Given the description of an element on the screen output the (x, y) to click on. 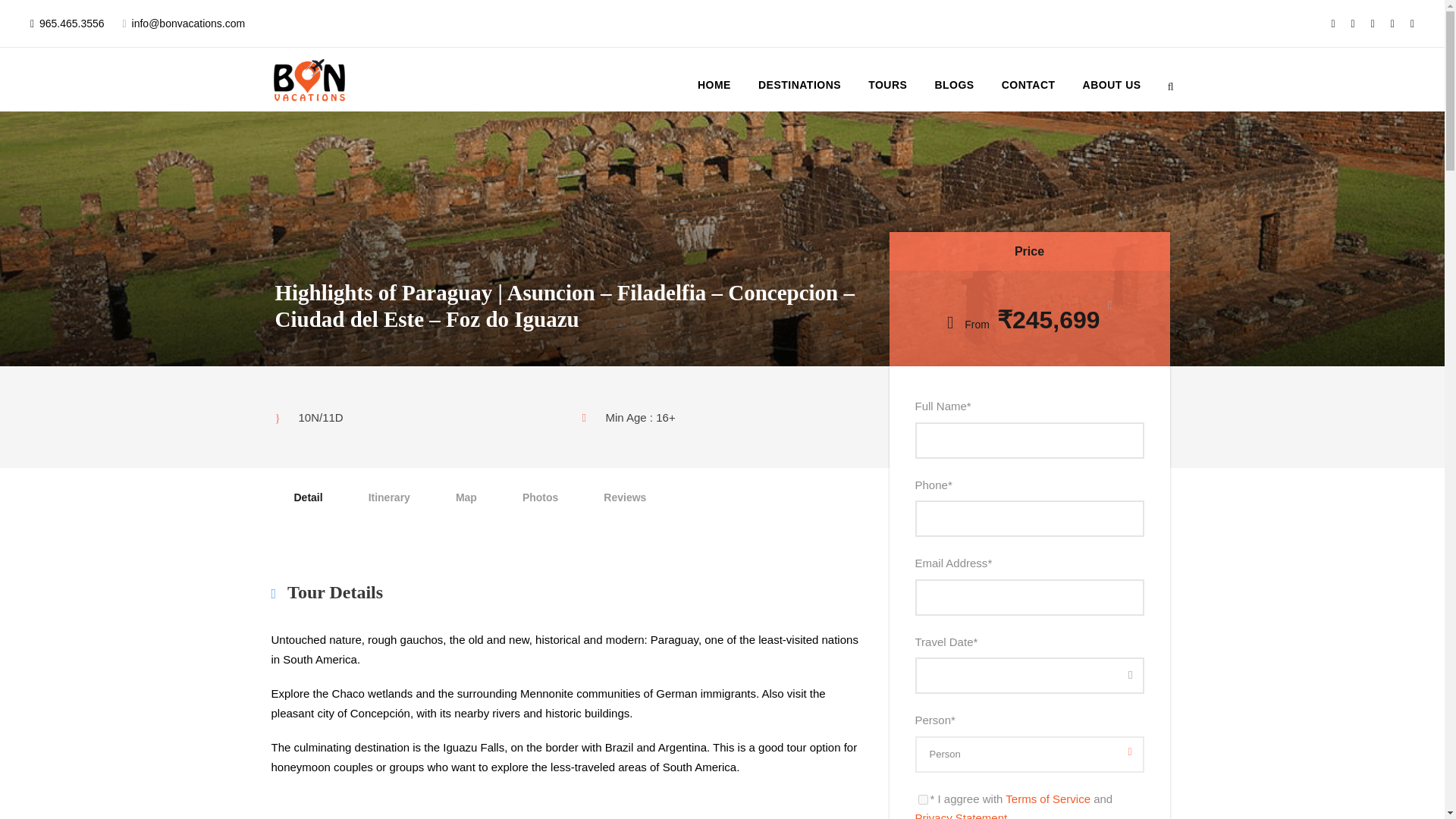
Map (466, 497)
Terms of Service (1048, 798)
DESTINATIONS (799, 87)
on (922, 799)
HOME (713, 87)
ABOUT US (1112, 87)
Bon Vacations Logo (308, 79)
BLOGS (954, 87)
Reviews (625, 497)
Privacy Statement (960, 815)
